Given the description of an element on the screen output the (x, y) to click on. 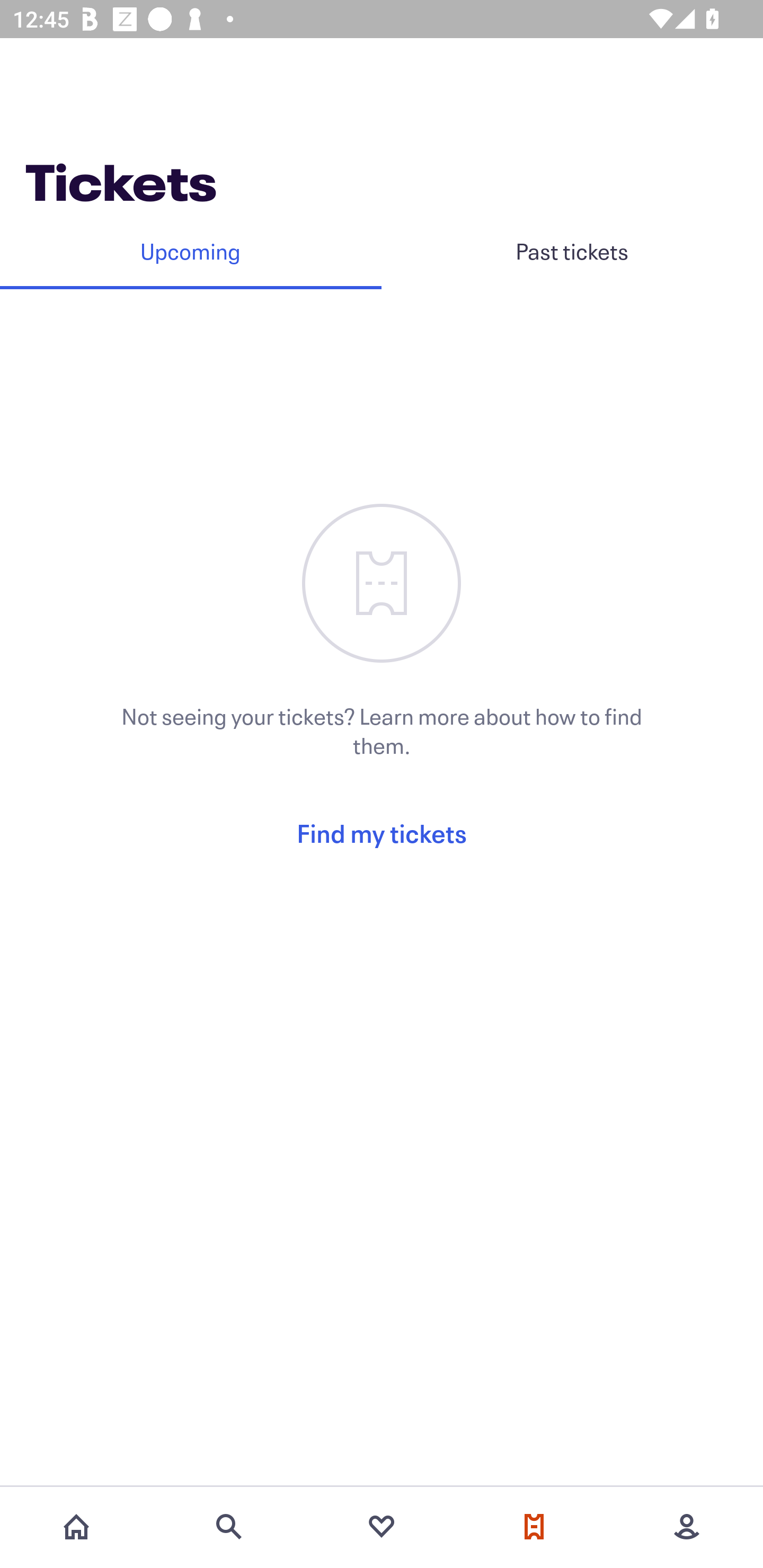
Past tickets (572, 250)
Find my tickets (381, 833)
Home (76, 1526)
Search events (228, 1526)
Favorites (381, 1526)
Tickets (533, 1526)
More (686, 1526)
